Given the description of an element on the screen output the (x, y) to click on. 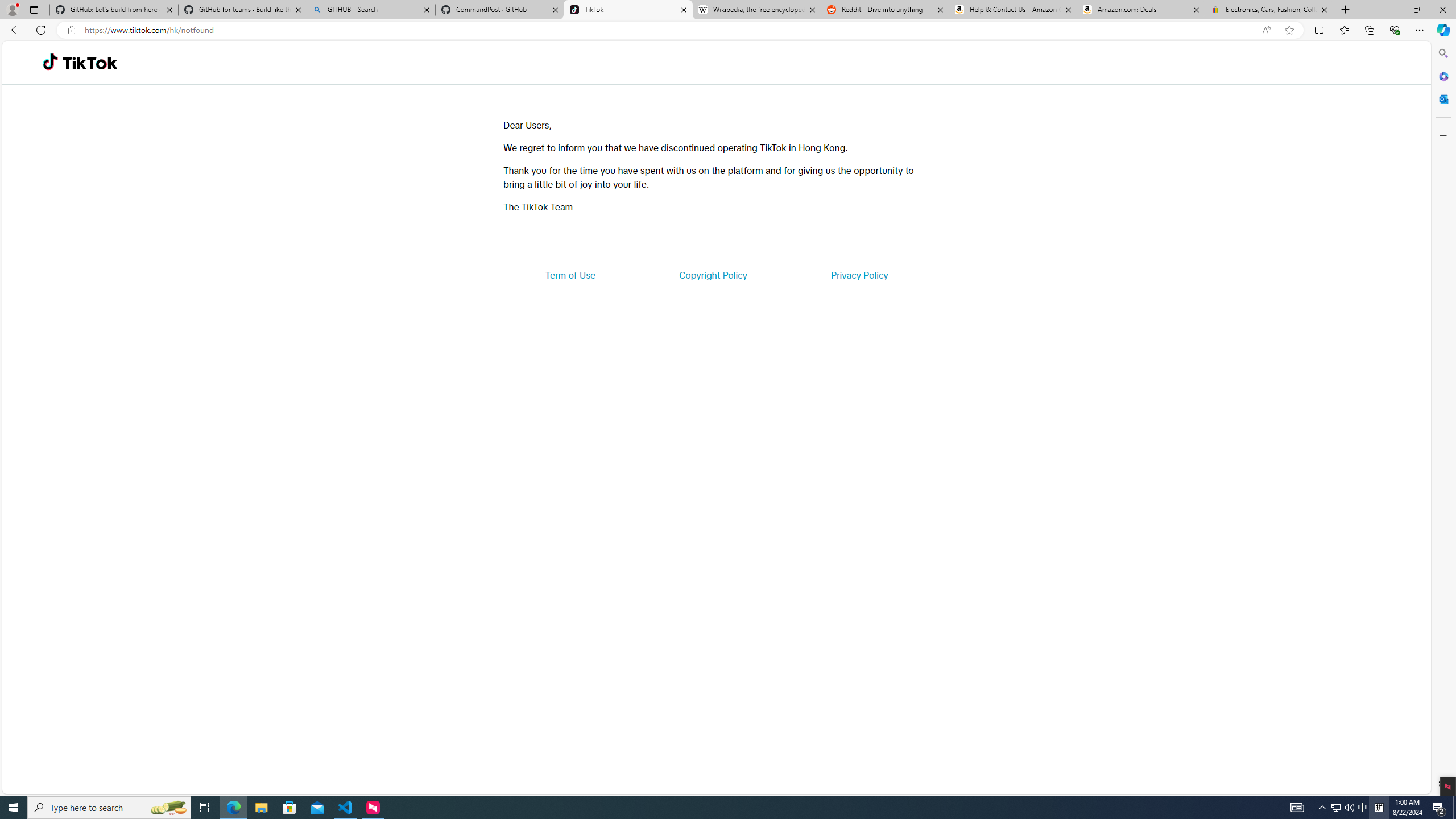
GITHUB - Search (370, 9)
